Given the description of an element on the screen output the (x, y) to click on. 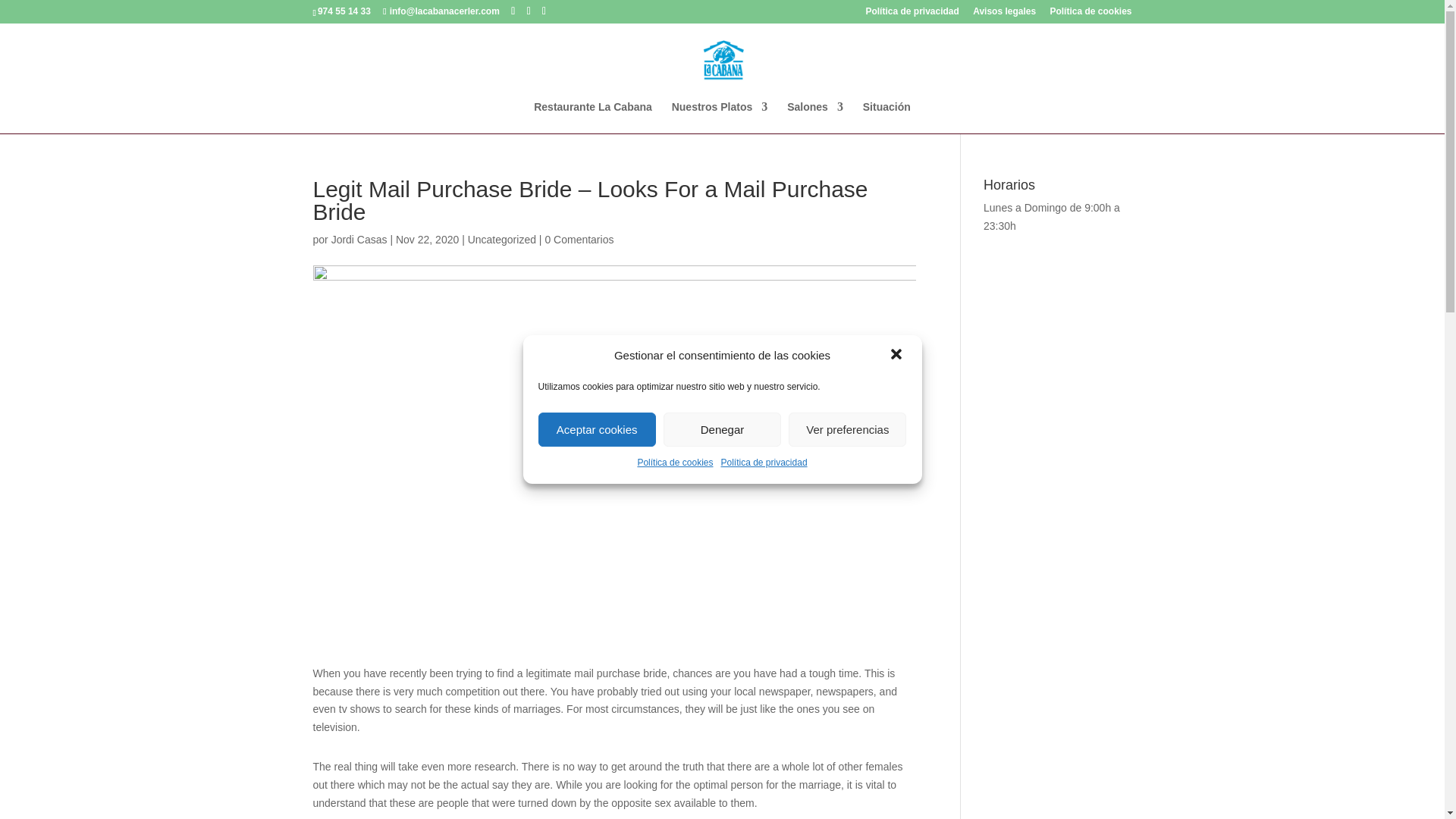
Restaurante La Cabana (593, 117)
Nuestros Platos (719, 117)
Denegar (721, 429)
Mensajes de Jordi Casas (359, 239)
Avisos legales (1003, 14)
Ver preferencias (847, 429)
Aceptar cookies (597, 429)
